Given the description of an element on the screen output the (x, y) to click on. 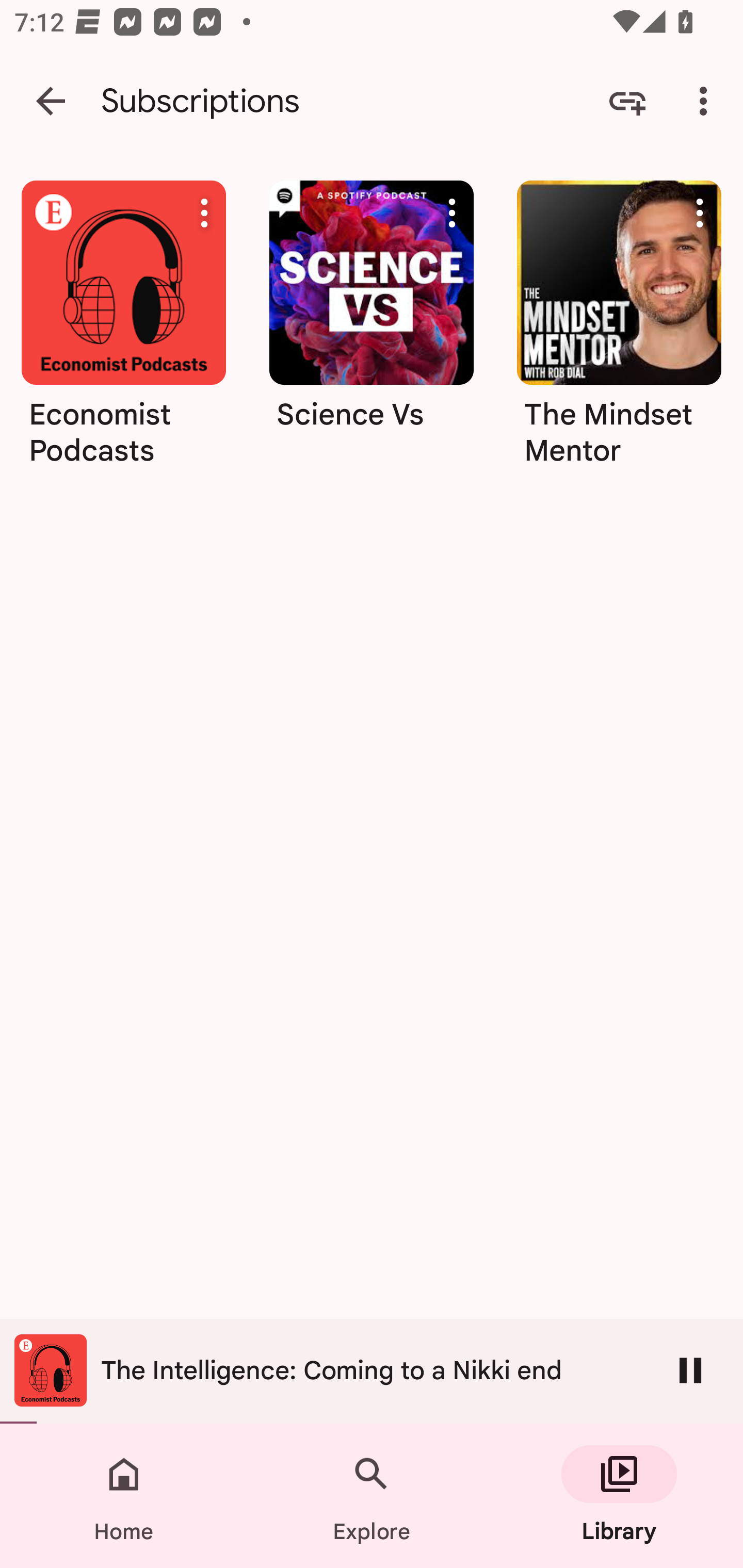
Navigate up (50, 101)
Add by RSS feed (626, 101)
More options (706, 101)
Economist Podcasts More actions Economist Podcasts (123, 329)
Science Vs More actions Science Vs (371, 329)
The Mindset Mentor More actions The Mindset Mentor (619, 329)
More actions (203, 213)
More actions (452, 213)
More actions (699, 213)
Pause (690, 1370)
Home (123, 1495)
Explore (371, 1495)
